Given the description of an element on the screen output the (x, y) to click on. 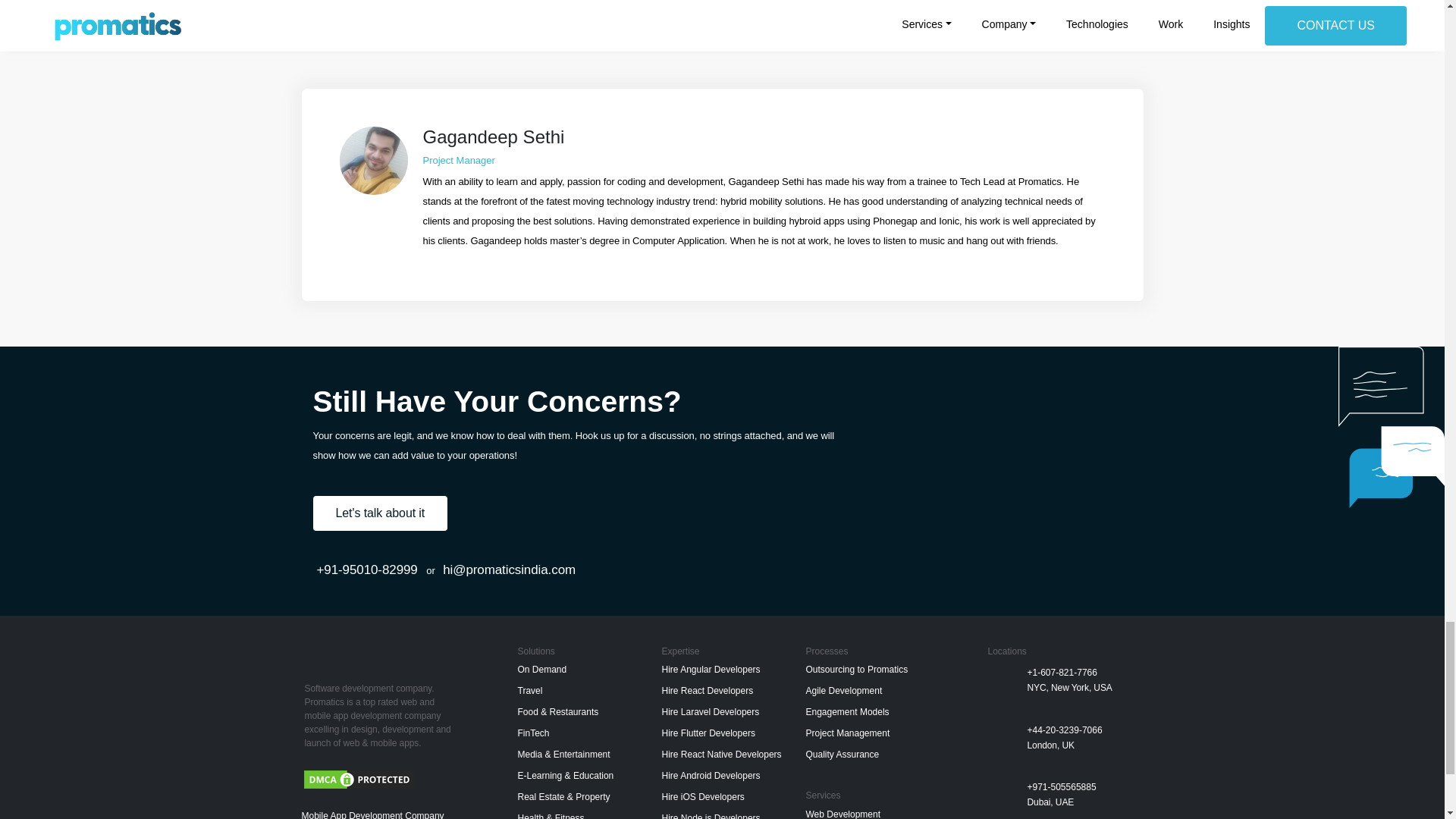
DMCA.com Protection Status (357, 778)
